Given the description of an element on the screen output the (x, y) to click on. 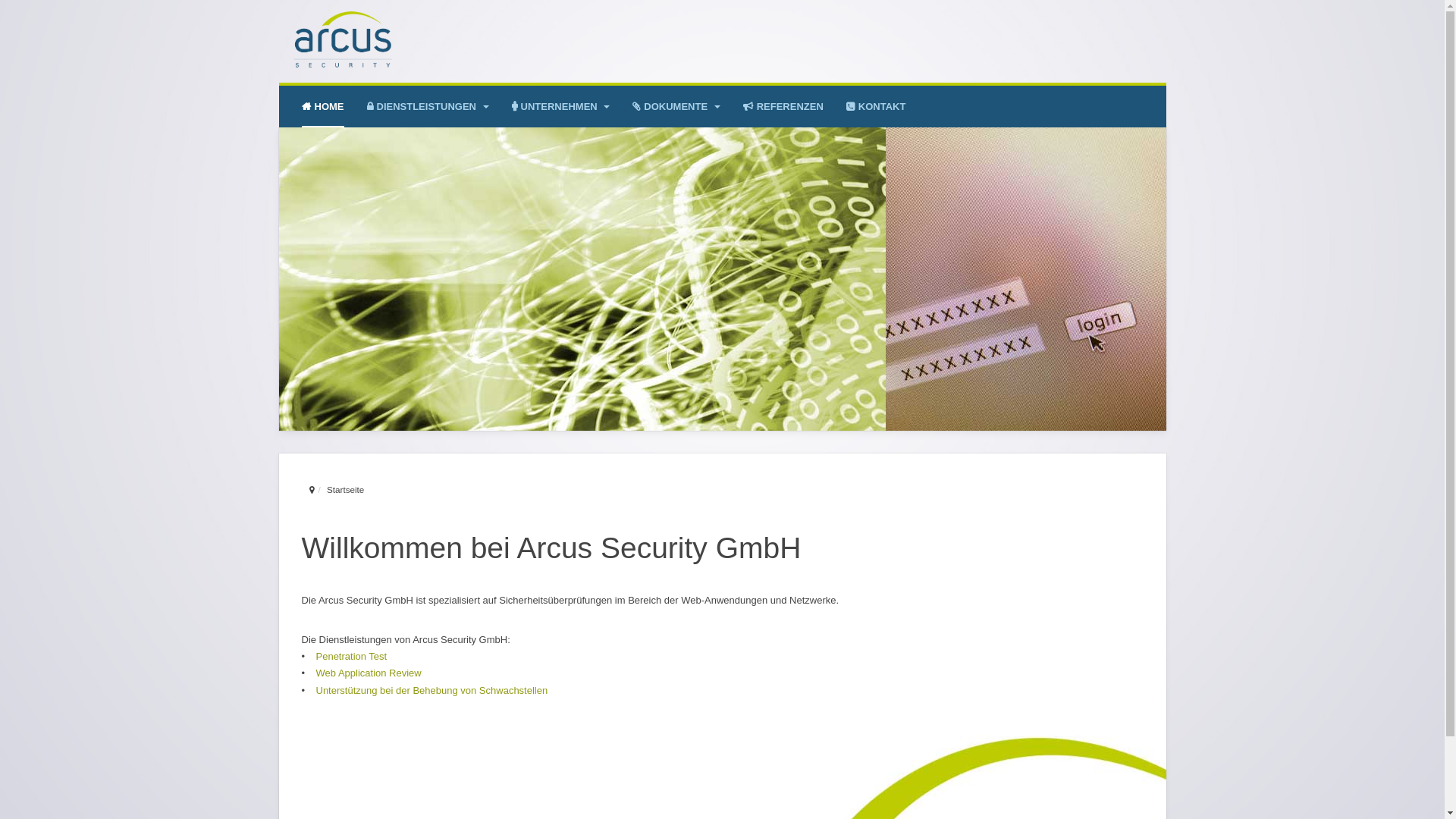
Web Application Review Element type: text (367, 672)
Penetration Test Element type: text (350, 656)
Willkommen bei Arcus Security GmbH Element type: text (551, 547)
Aktuelle Seite:  Element type: hover (311, 490)
DIENSTLEISTUNGEN Element type: text (428, 106)
REFERENZEN Element type: text (783, 106)
HOME Element type: text (322, 106)
DOKUMENTE Element type: text (675, 106)
KONTAKT Element type: text (876, 106)
UNTERNEHMEN Element type: text (560, 106)
